Given the description of an element on the screen output the (x, y) to click on. 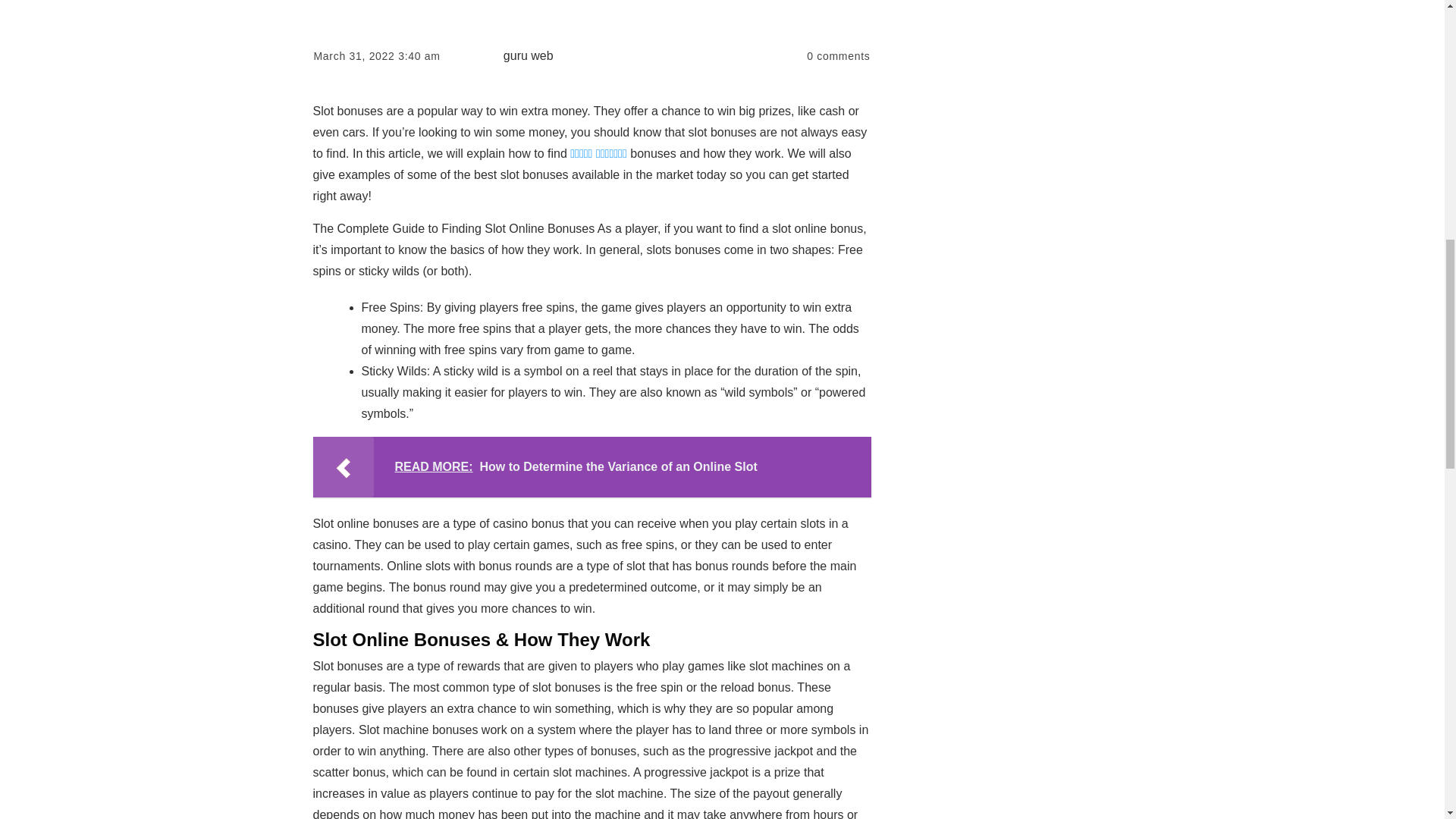
The Complete Guide to Finding Slot Online Bonuses (591, 11)
